Given the description of an element on the screen output the (x, y) to click on. 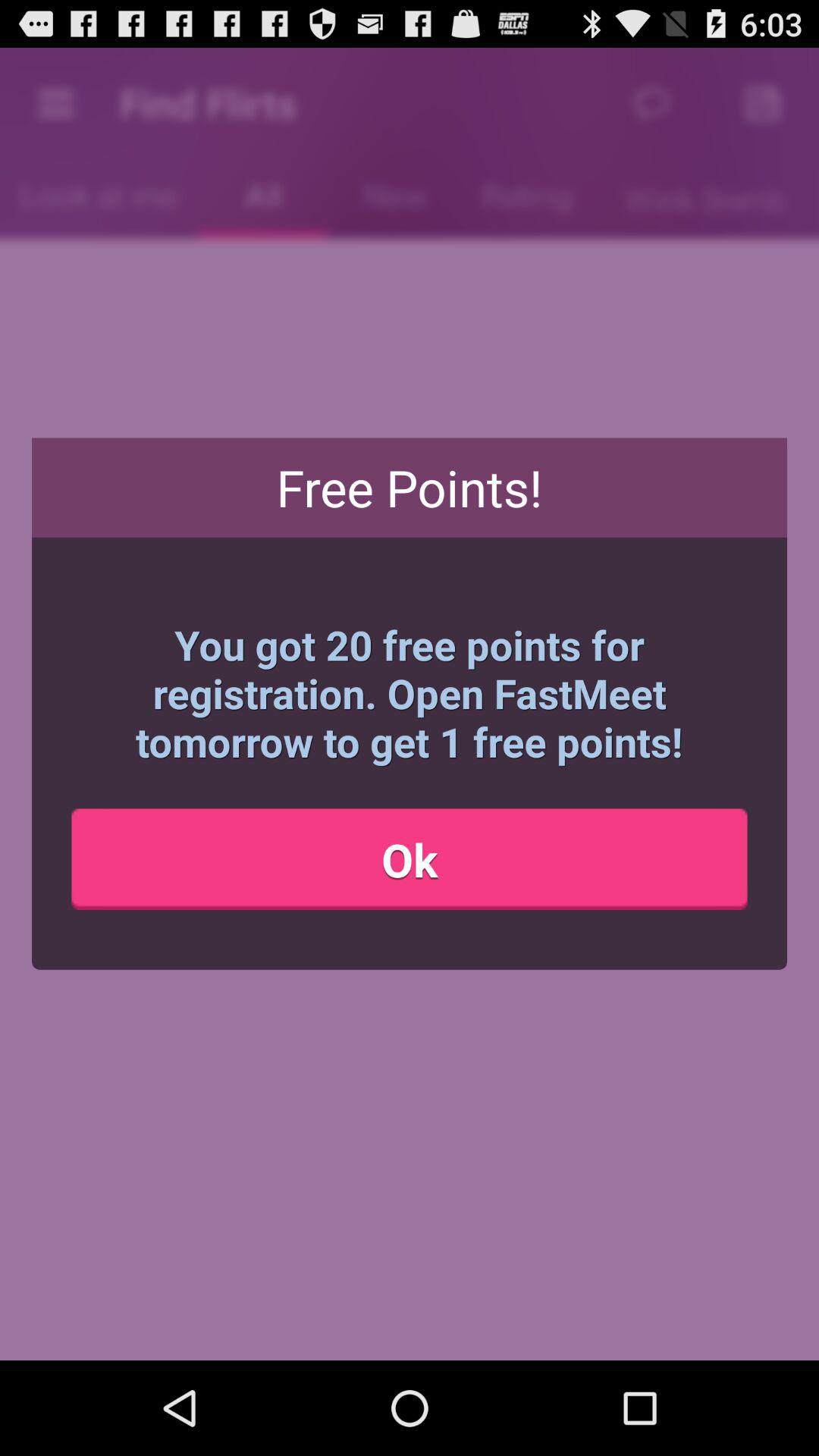
flip to the ok (409, 859)
